Given the description of an element on the screen output the (x, y) to click on. 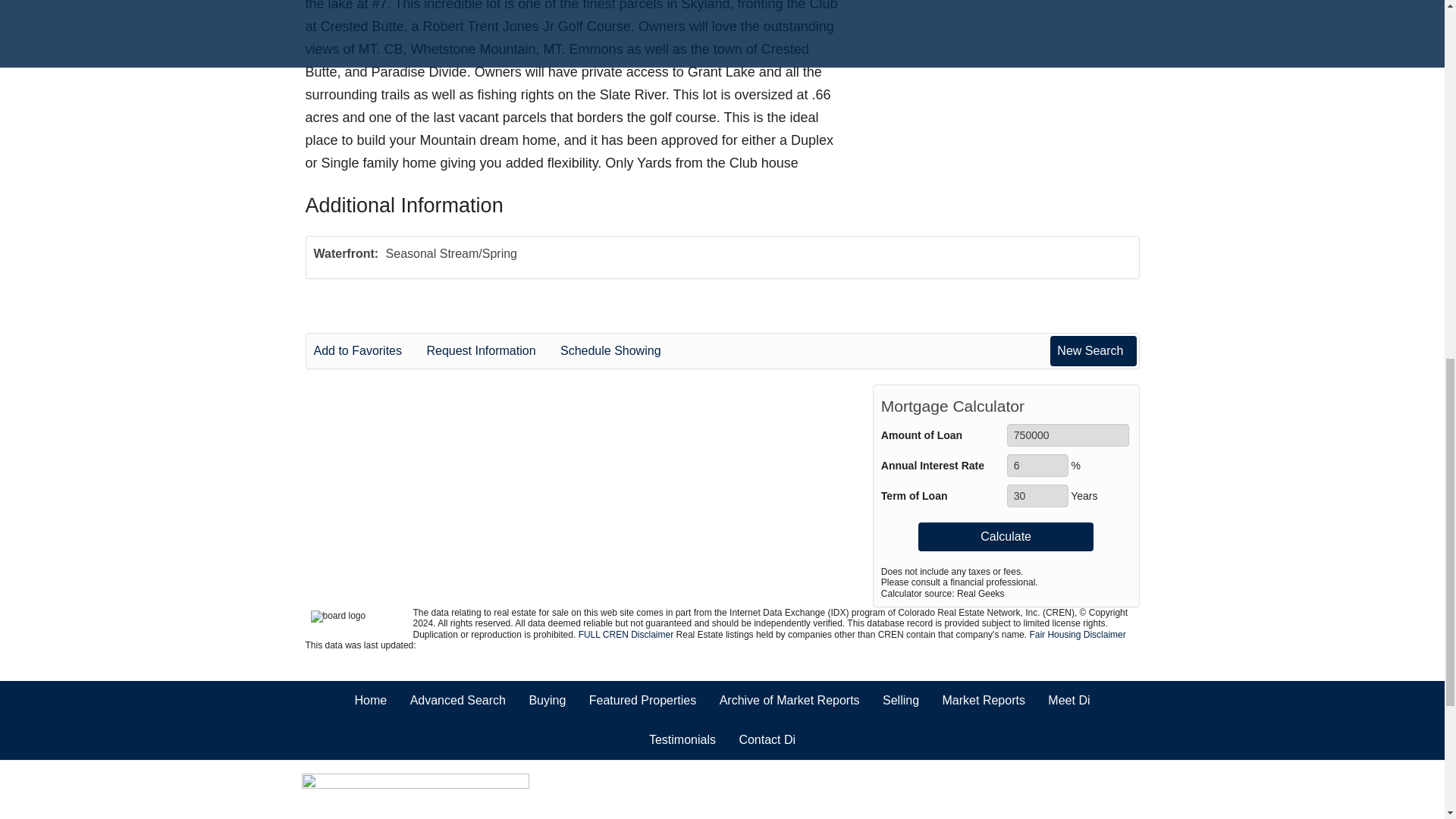
6 (1037, 465)
750000 (1068, 435)
30 (1037, 495)
